Given the description of an element on the screen output the (x, y) to click on. 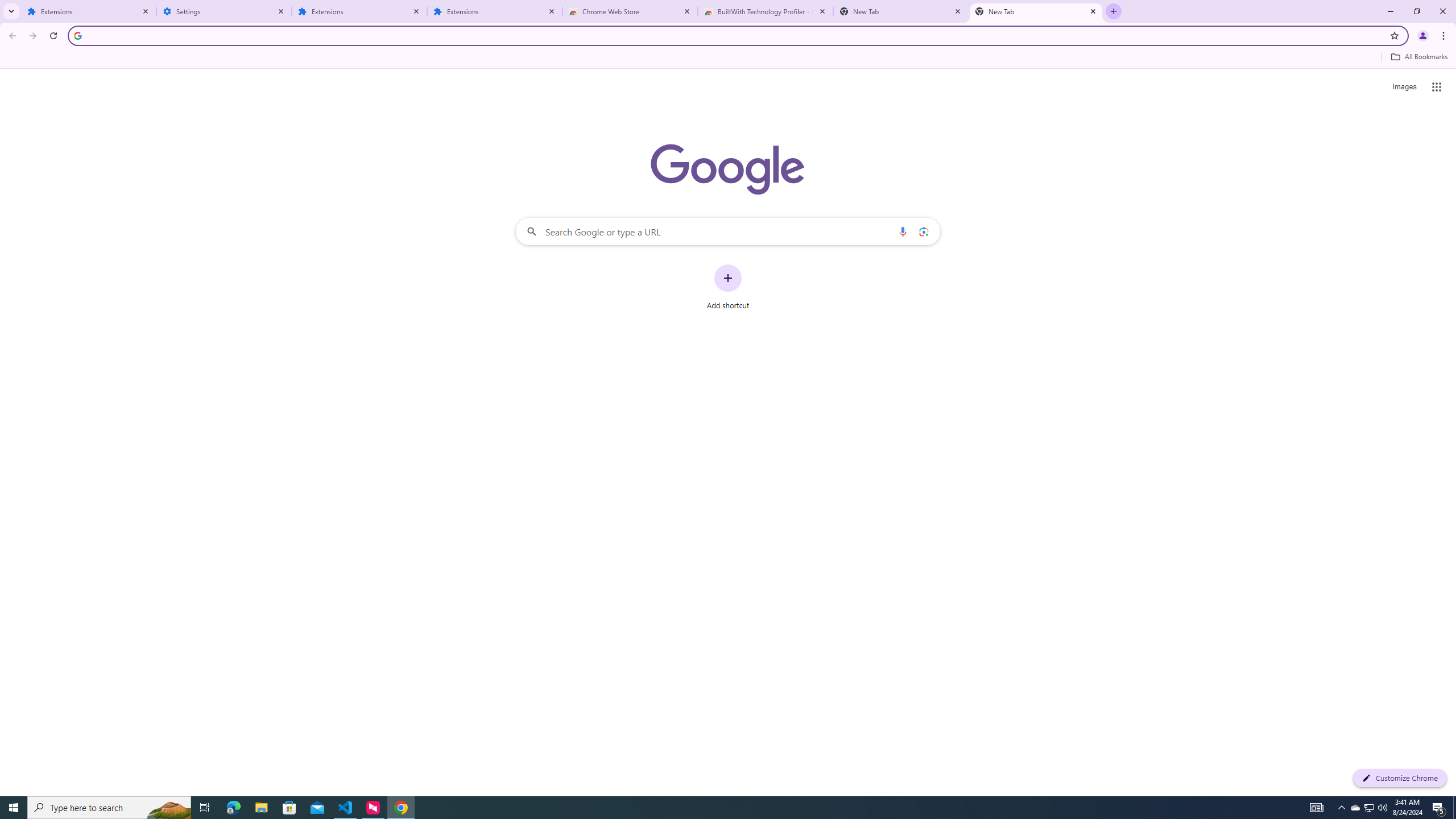
Extensions (359, 11)
Chrome Web Store (630, 11)
Extensions (88, 11)
New Tab (1036, 11)
BuiltWith Technology Profiler - Chrome Web Store (765, 11)
